Given the description of an element on the screen output the (x, y) to click on. 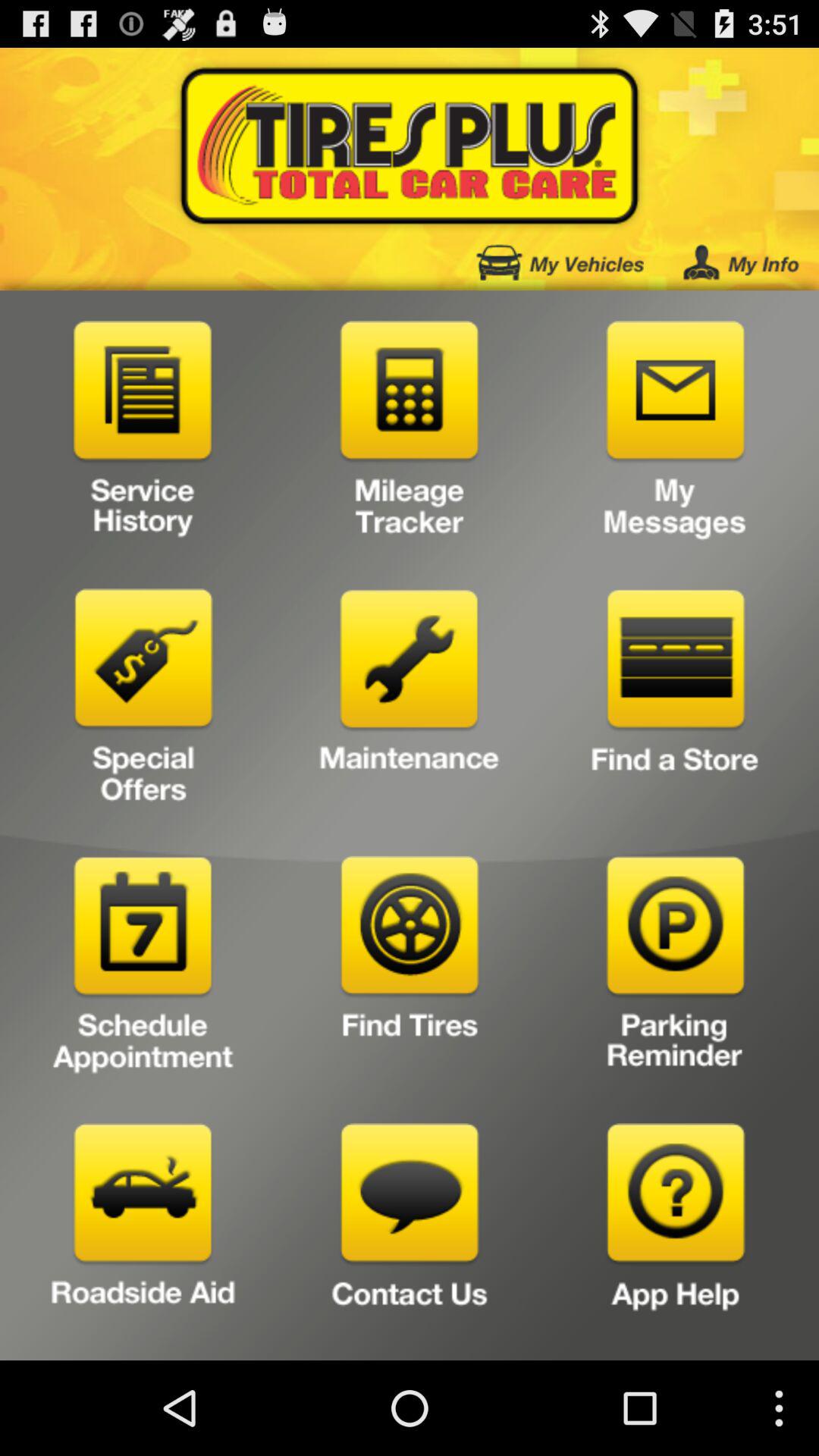
information from tires plus about your vehicle (559, 262)
